Given the description of an element on the screen output the (x, y) to click on. 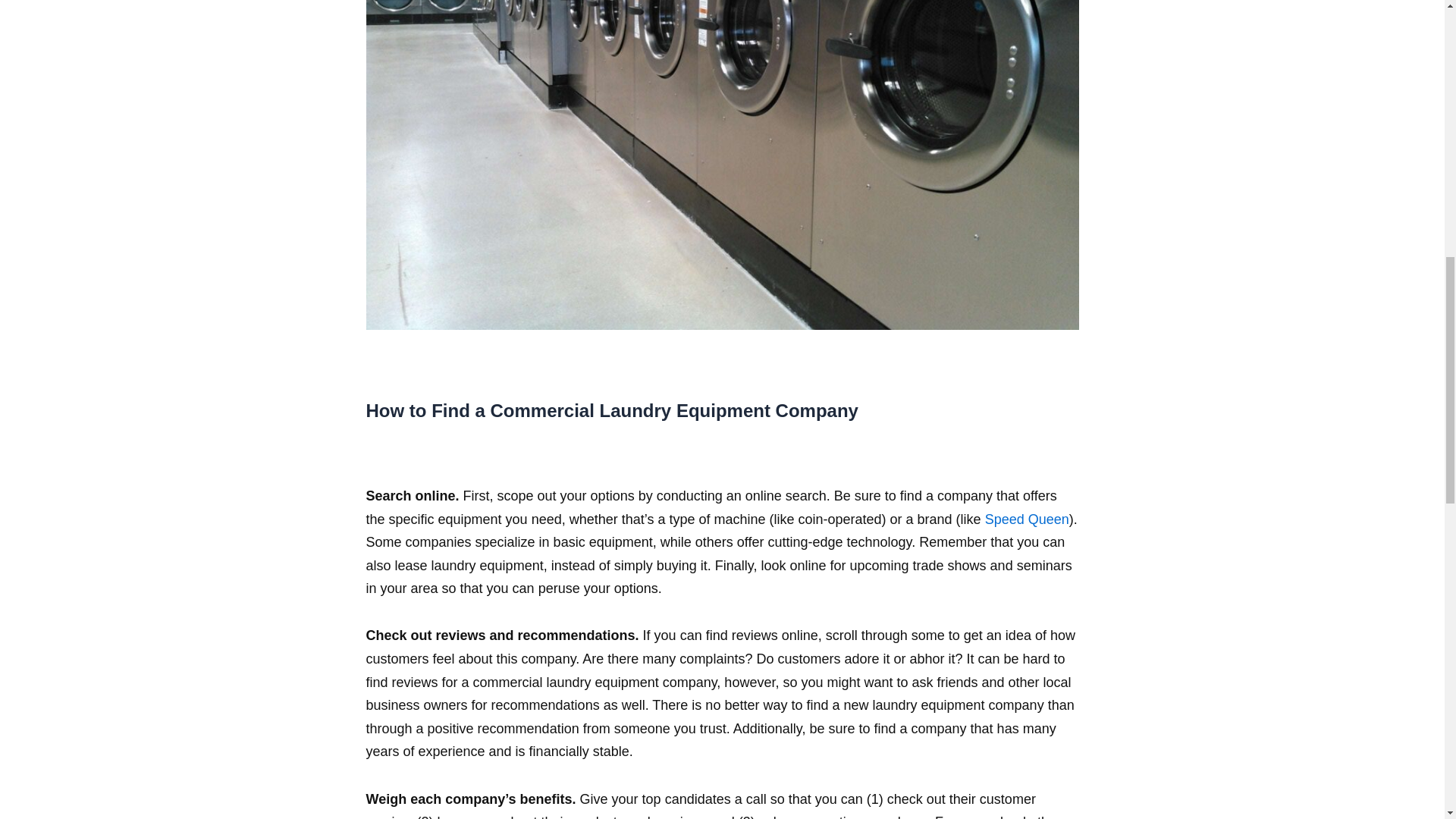
Speed Queen (1026, 519)
